Given the description of an element on the screen output the (x, y) to click on. 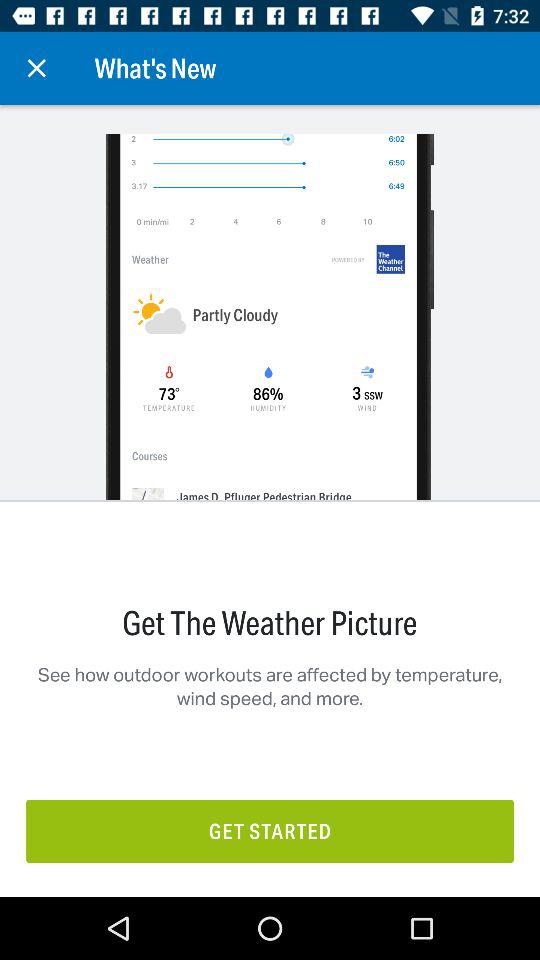
tap the item next to the what's new icon (36, 68)
